Given the description of an element on the screen output the (x, y) to click on. 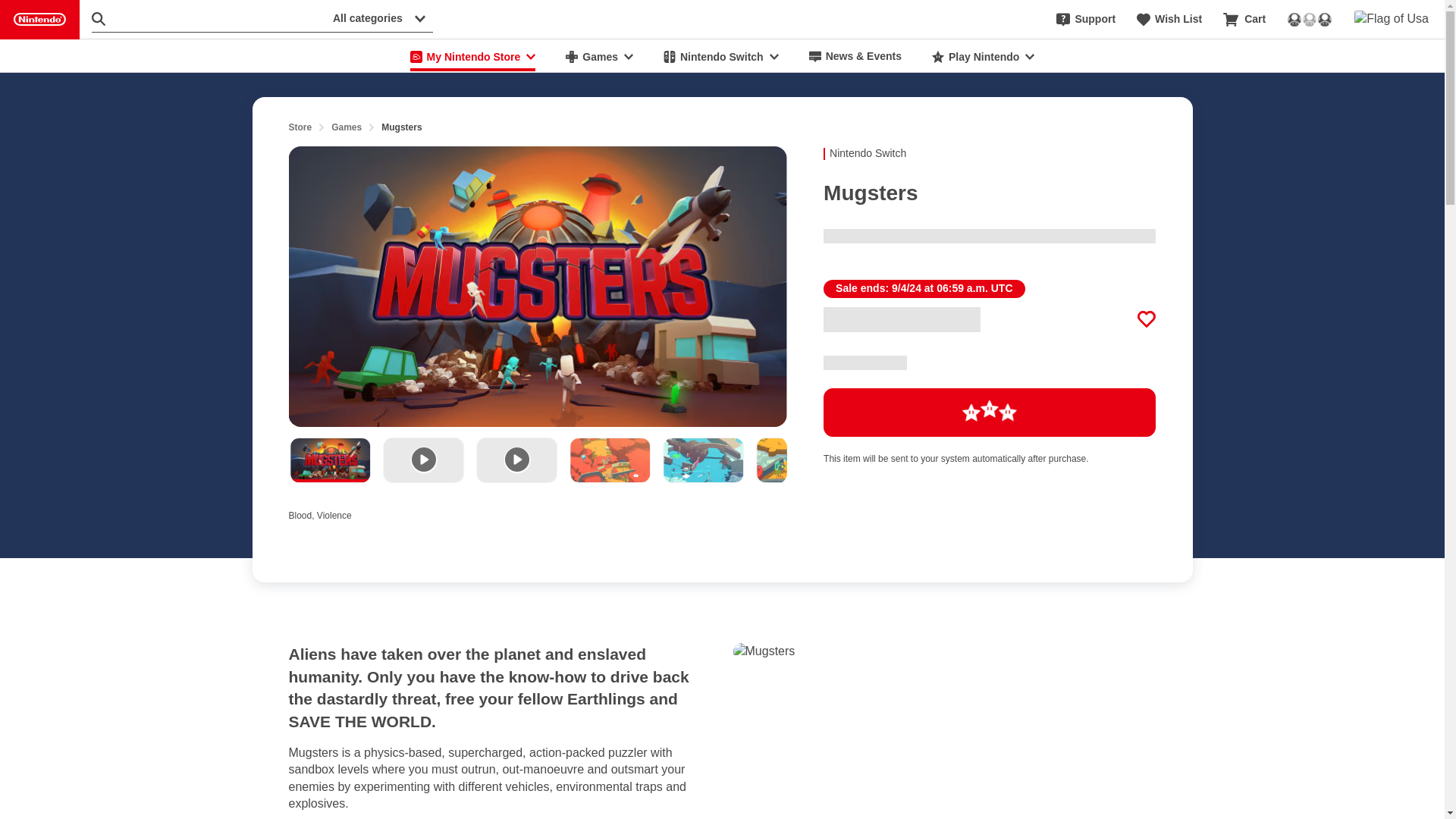
Store (299, 127)
Wish List (1169, 19)
Play Nintendo (983, 56)
Games (599, 56)
Blood, Violence (333, 513)
Nintendo (40, 19)
My Nintendo Store (472, 56)
Games (346, 127)
Cart (1244, 19)
Support (1086, 19)
